Given the description of an element on the screen output the (x, y) to click on. 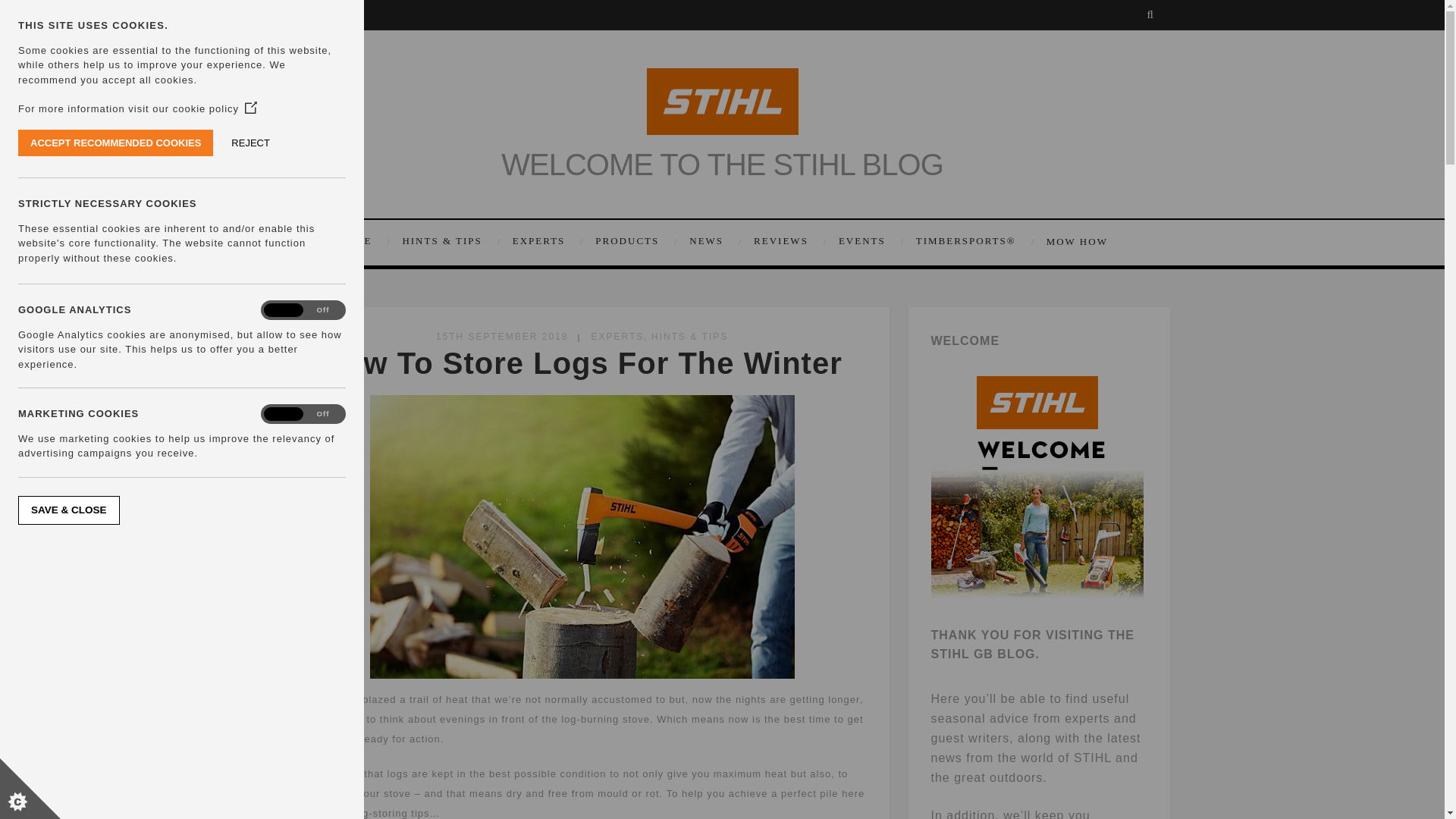
MOW HOW (1073, 241)
EXPERTS (546, 241)
Cookie Control Icon (30, 788)
Permanent Link to How To Store Logs For The Winter (581, 363)
NEWS (713, 241)
EVENTS (869, 241)
REVIEWS (788, 241)
EXPERTS (618, 336)
HOME (365, 241)
How To Store Logs For The Winter (581, 363)
PRODUCTS (634, 241)
15TH SEPTEMBER 2018 (502, 336)
